Given the description of an element on the screen output the (x, y) to click on. 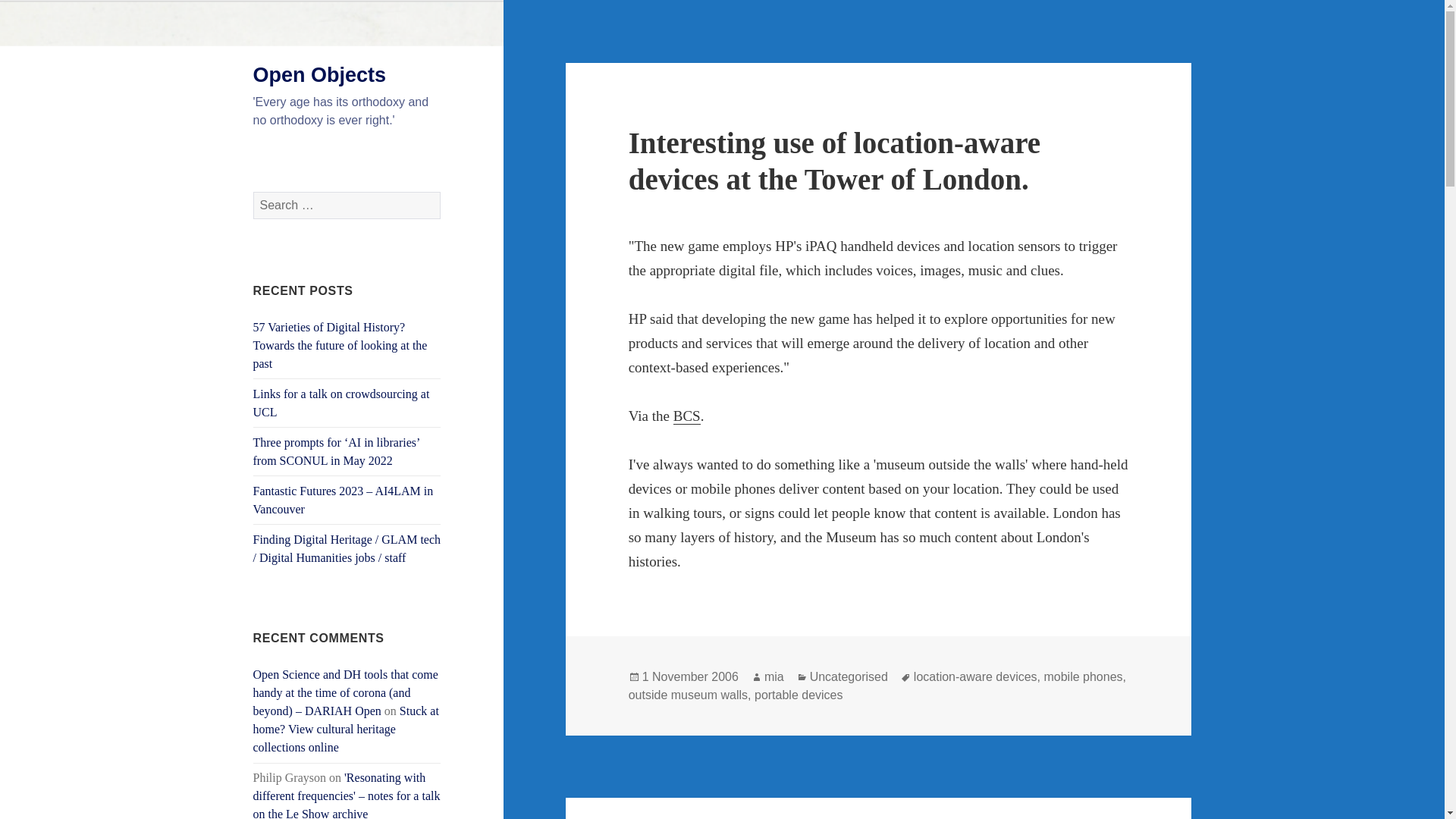
Open Objects (320, 74)
Stuck at home? View cultural heritage collections online (346, 728)
Links for a talk on crowdsourcing at UCL (341, 402)
